Given the description of an element on the screen output the (x, y) to click on. 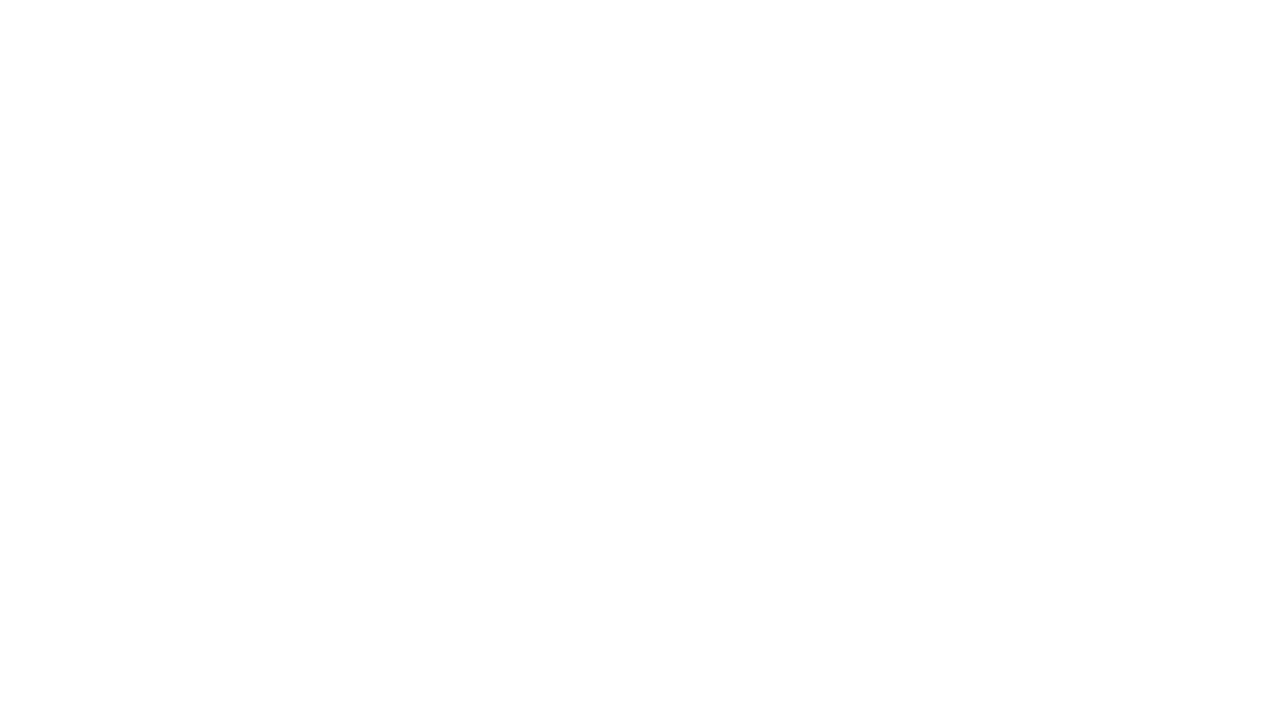
Untitled (312, 17)
Read aloud this page (Ctrl+Shift+U) (950, 53)
Print (589, 205)
YouTube Kids - An App Created for Kids to Explore Content (460, 17)
Copilot (239, 17)
Minimize (1164, 16)
